Given the description of an element on the screen output the (x, y) to click on. 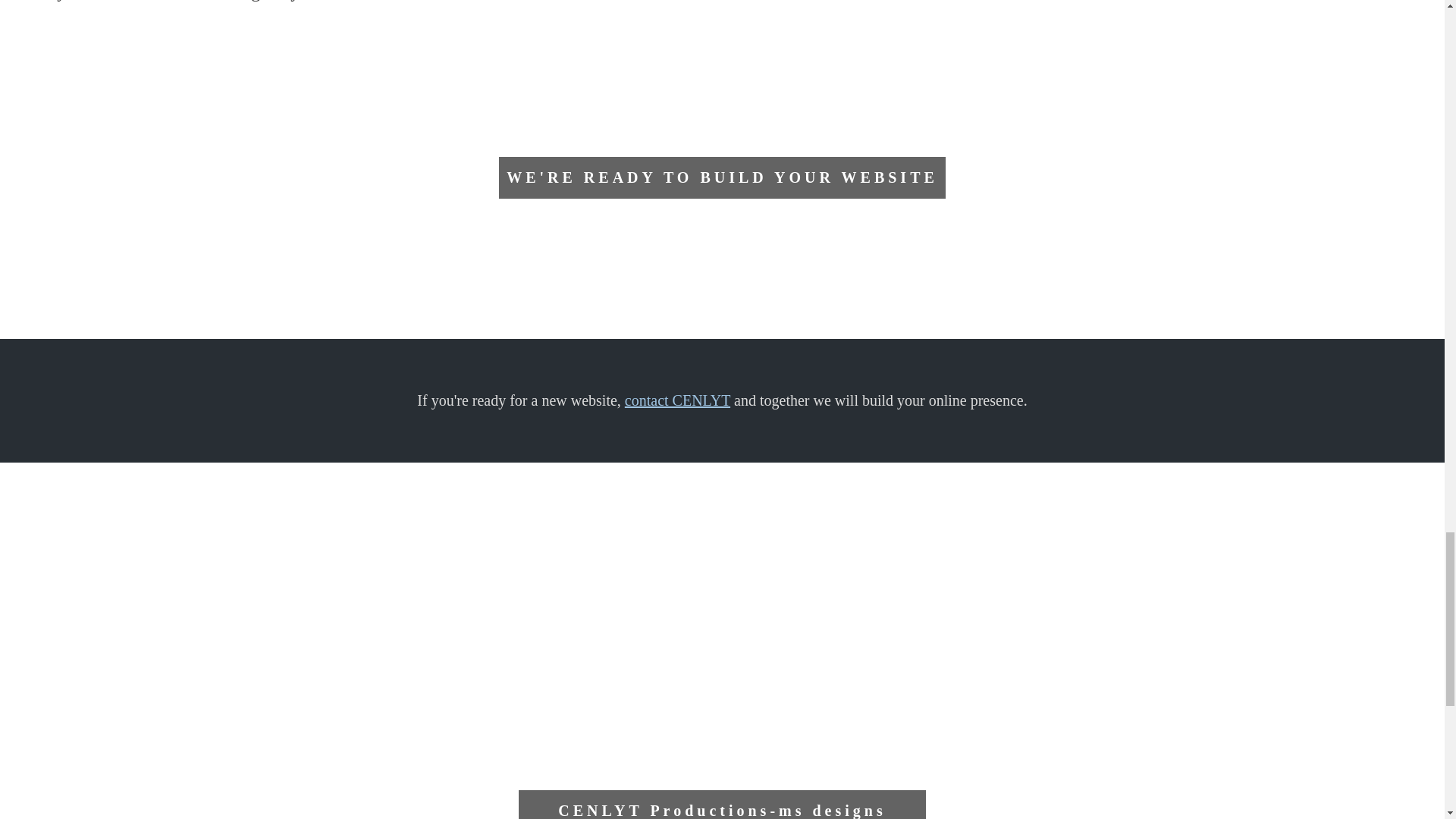
contact CENLYT (677, 400)
